Given the description of an element on the screen output the (x, y) to click on. 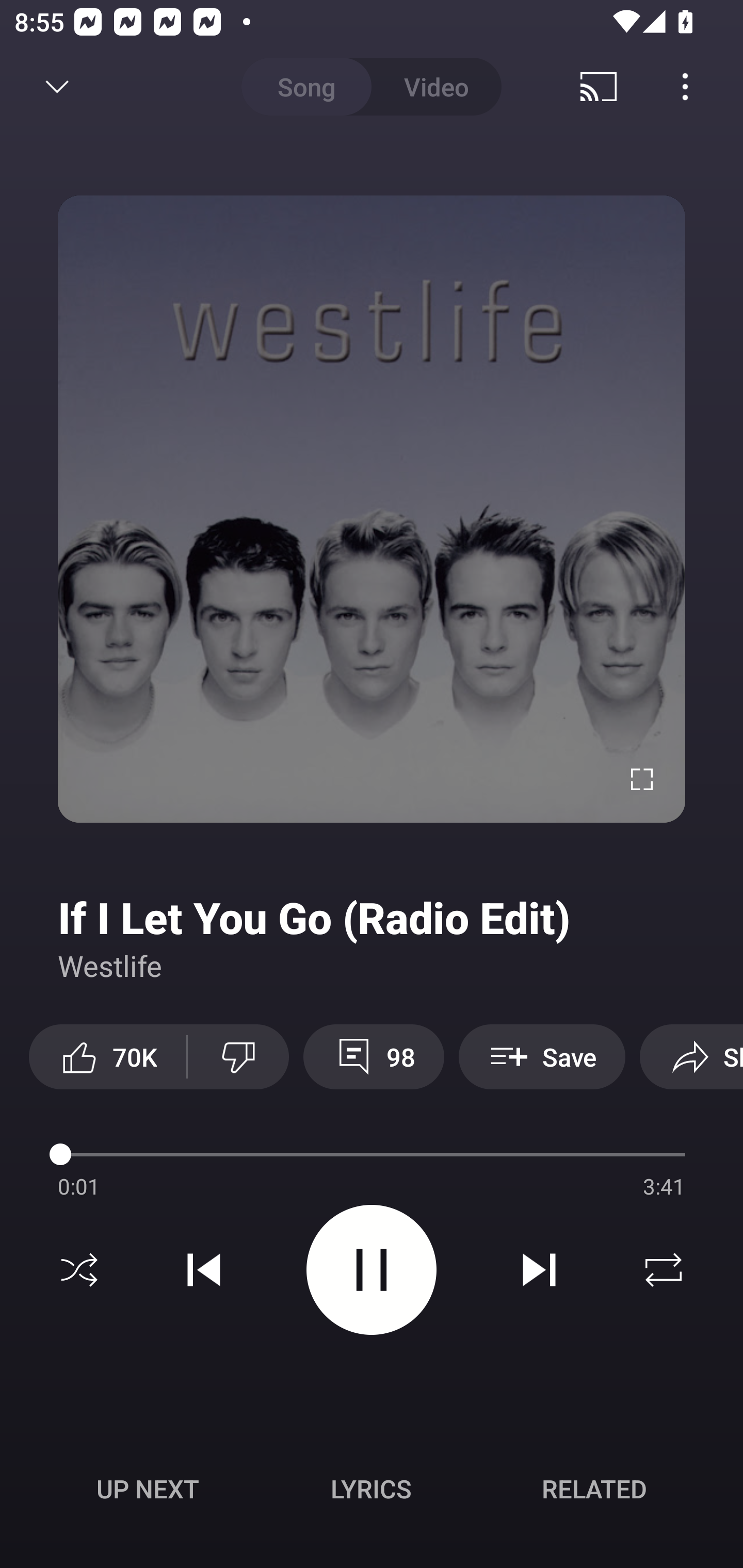
Cast. Disconnected (598, 86)
Menu (684, 86)
Back (50, 86)
Enter fullscreen (641, 779)
70K like this video along with 70,377 other people (106, 1056)
Dislike (238, 1056)
98 View 98 comments (373, 1056)
Save Save to playlist (541, 1056)
Share (691, 1056)
Pause video (371, 1269)
Shuffle off (79, 1269)
Previous track (203, 1269)
Next track (538, 1269)
Repeat off (663, 1269)
Up next UP NEXT Lyrics LYRICS Related RELATED (371, 1491)
Lyrics LYRICS (370, 1488)
Related RELATED (594, 1488)
